Given the description of an element on the screen output the (x, y) to click on. 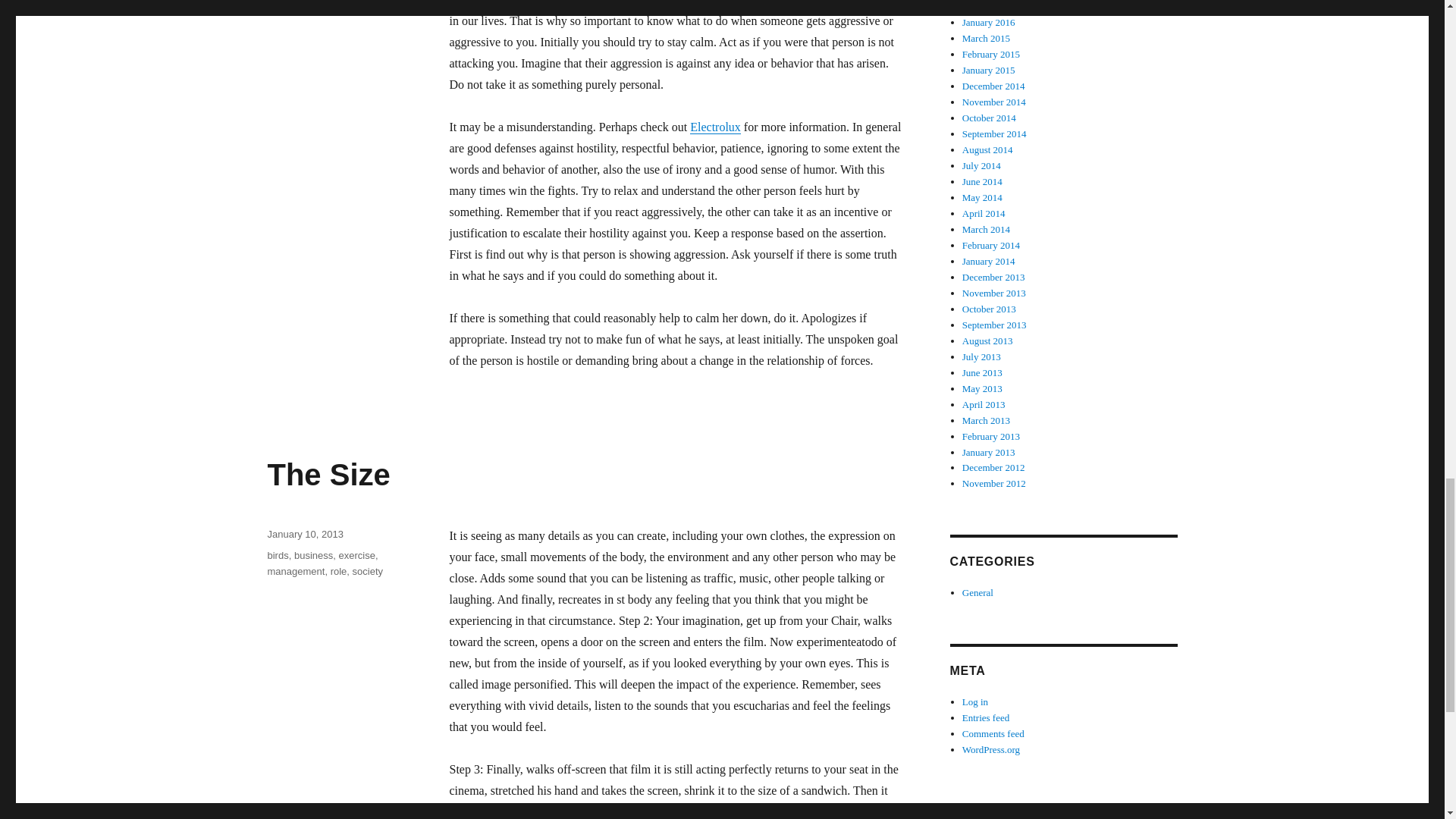
society (281, 2)
management (295, 571)
The Size (328, 474)
January 10, 2013 (304, 533)
business (313, 555)
exercise (355, 555)
Electrolux (715, 126)
role (338, 571)
birds (277, 555)
society (367, 571)
